Given the description of an element on the screen output the (x, y) to click on. 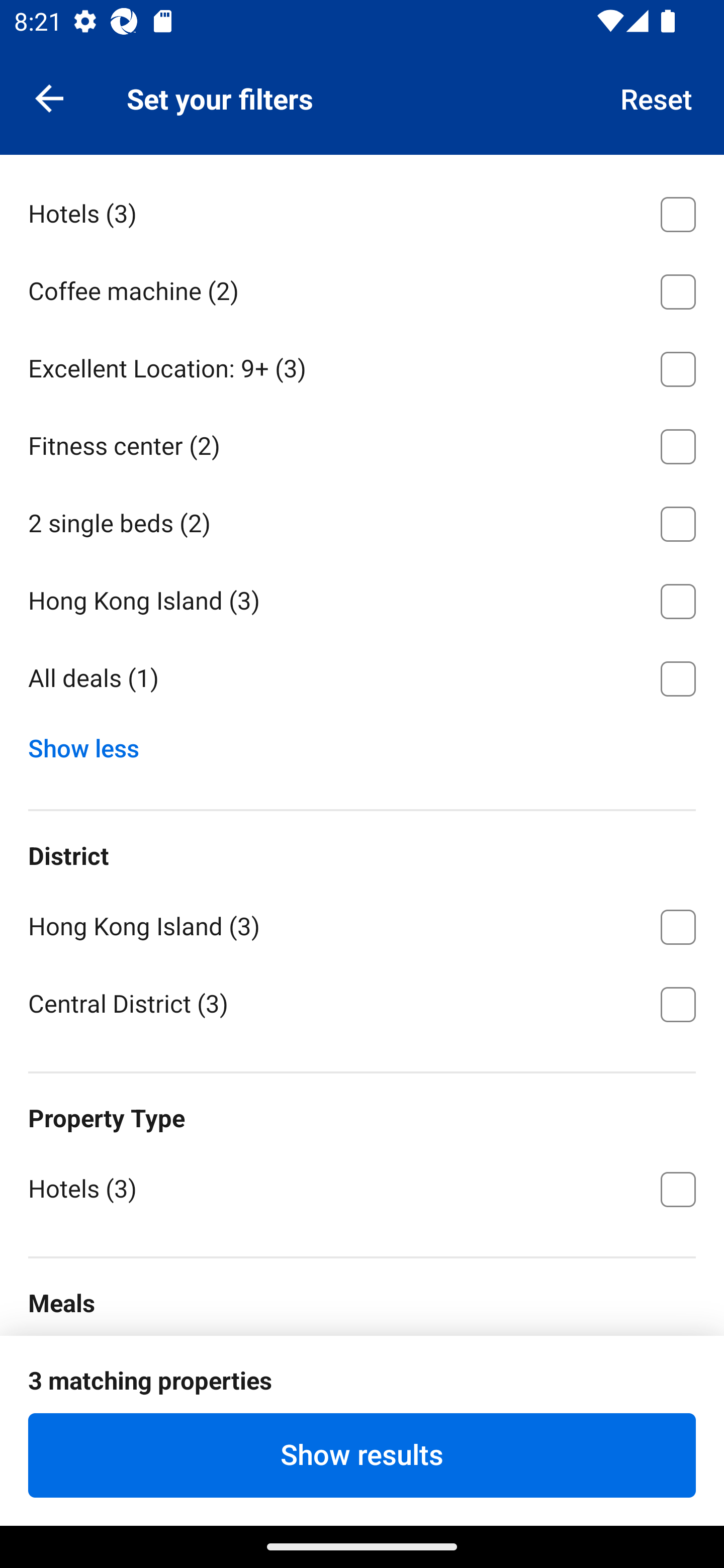
Navigate up (49, 97)
Reset (656, 97)
Hotels ⁦(3) (361, 210)
Coffee machine ⁦(2) (361, 288)
Excellent Location: 9+ ⁦(3) (361, 365)
Fitness center ⁦(2) (361, 442)
2 single beds ⁦(2) (361, 520)
Hong Kong Island ⁦(3) (361, 597)
All deals ⁦(1) (361, 678)
Show less (90, 743)
Hong Kong Island ⁦(3) (361, 923)
Central District ⁦(3) (361, 1002)
Hotels ⁦(3) (361, 1187)
Show results (361, 1454)
